Given the description of an element on the screen output the (x, y) to click on. 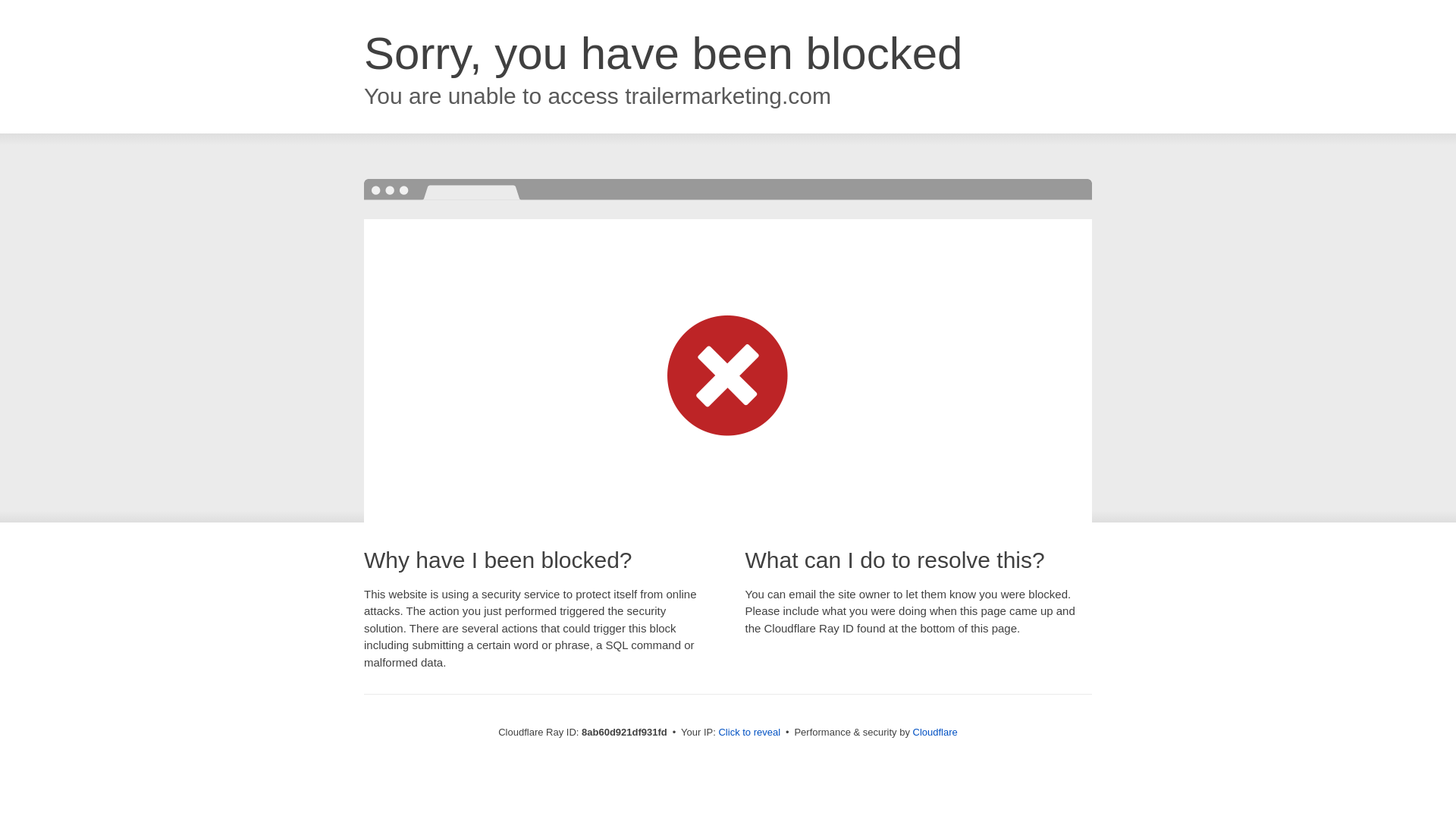
Click to reveal (748, 732)
Cloudflare (935, 731)
